Given the description of an element on the screen output the (x, y) to click on. 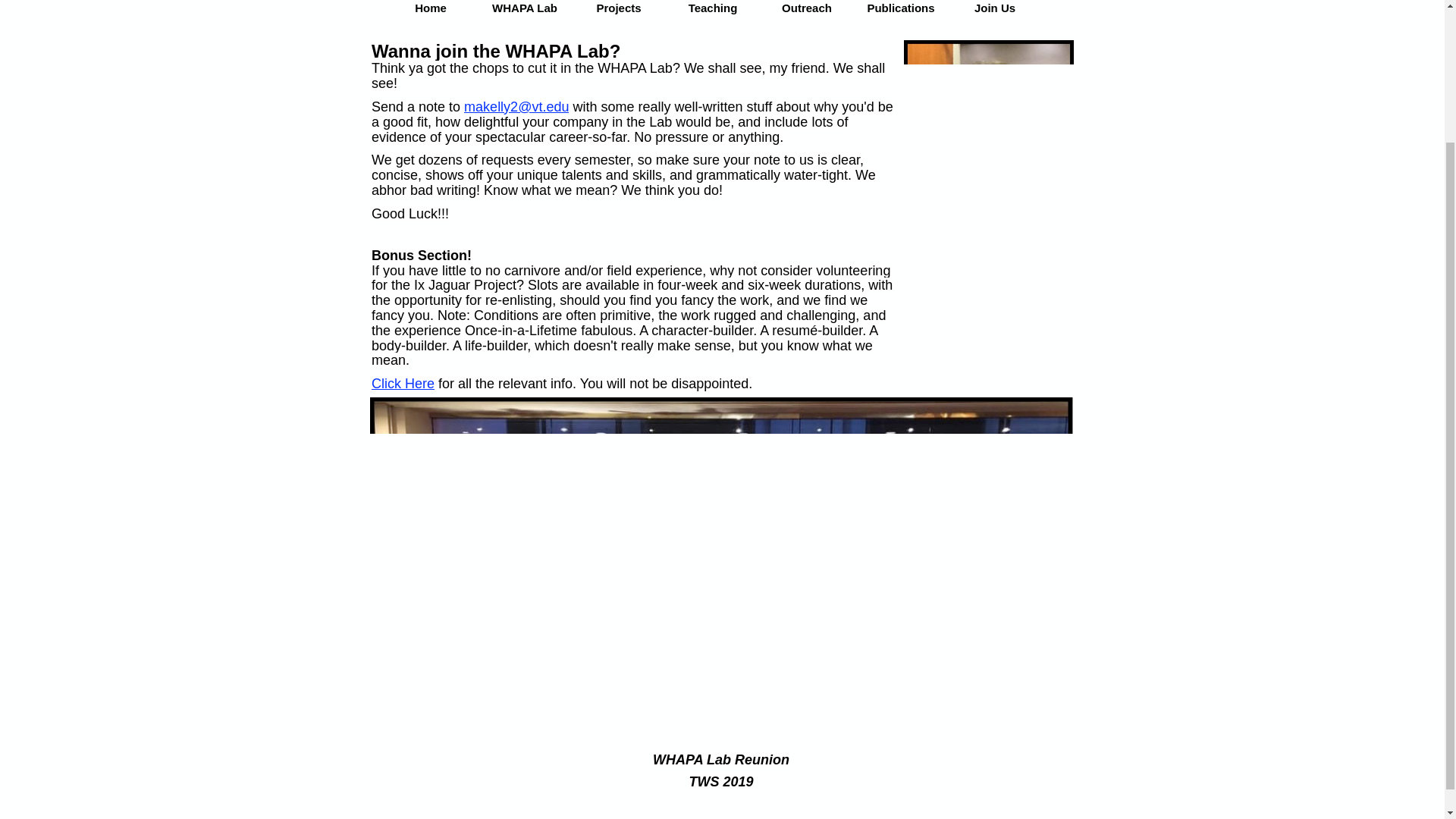
Click Here (402, 383)
Publications (901, 8)
Projects (618, 8)
WHAPA Lab (524, 8)
Outreach (806, 8)
Teaching (712, 8)
Join Us (994, 8)
Home (430, 8)
